Given the description of an element on the screen output the (x, y) to click on. 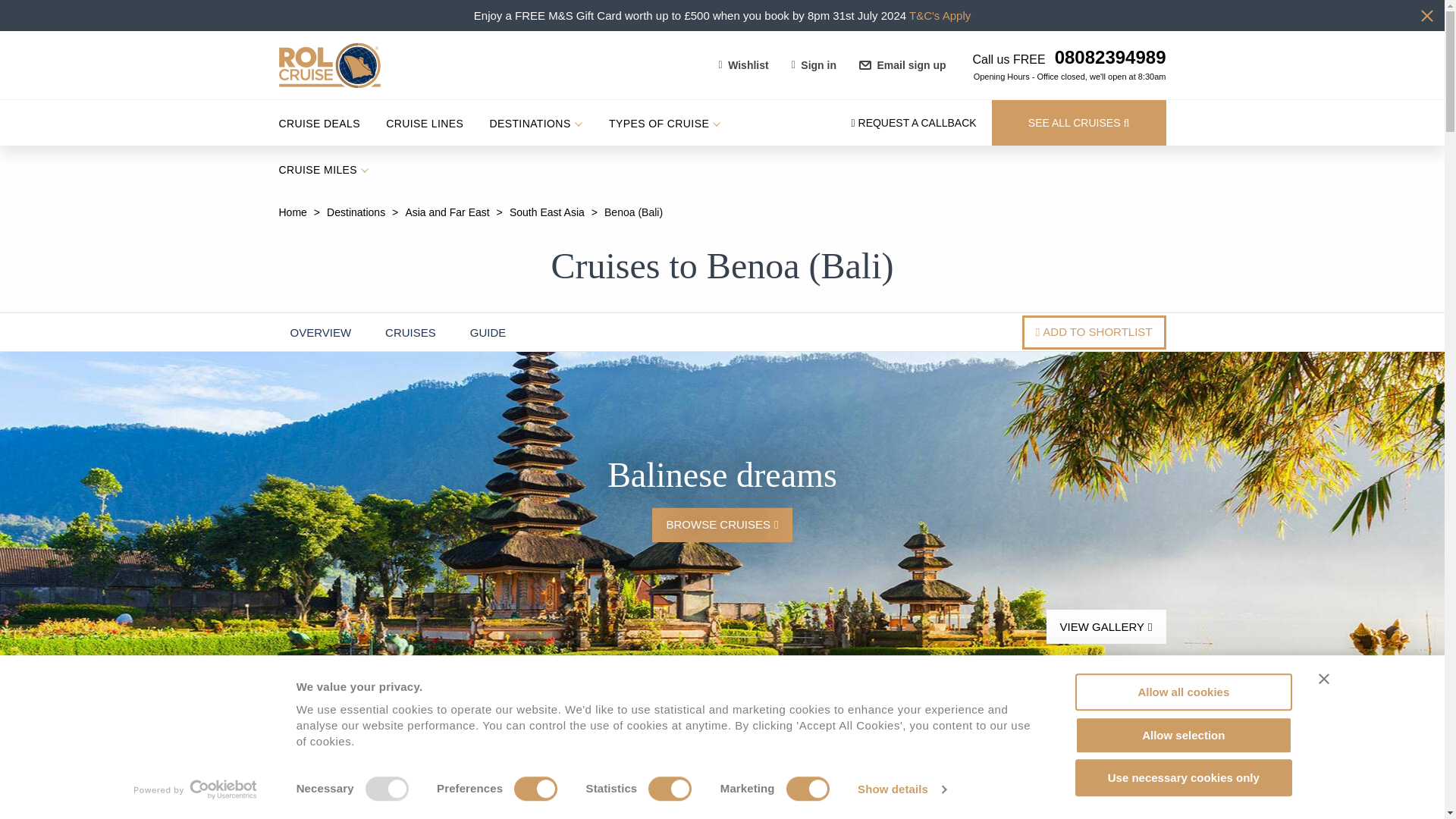
Show details (900, 789)
